Given the description of an element on the screen output the (x, y) to click on. 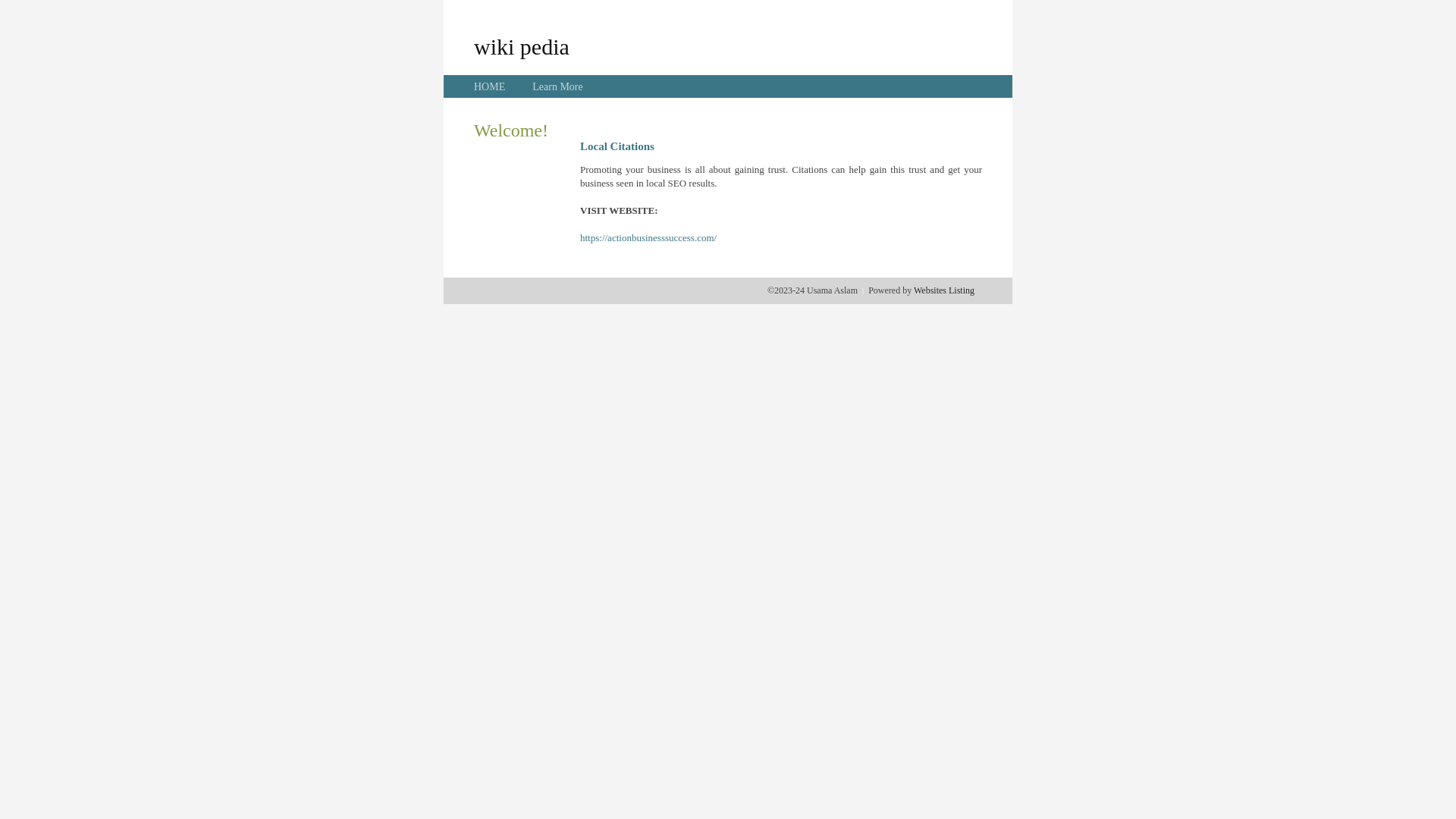
HOME Element type: text (489, 86)
wiki pedia Element type: text (521, 46)
Learn More Element type: text (557, 86)
https://actionbusinesssuccess.com/ Element type: text (648, 237)
Websites Listing Element type: text (943, 290)
